Given the description of an element on the screen output the (x, y) to click on. 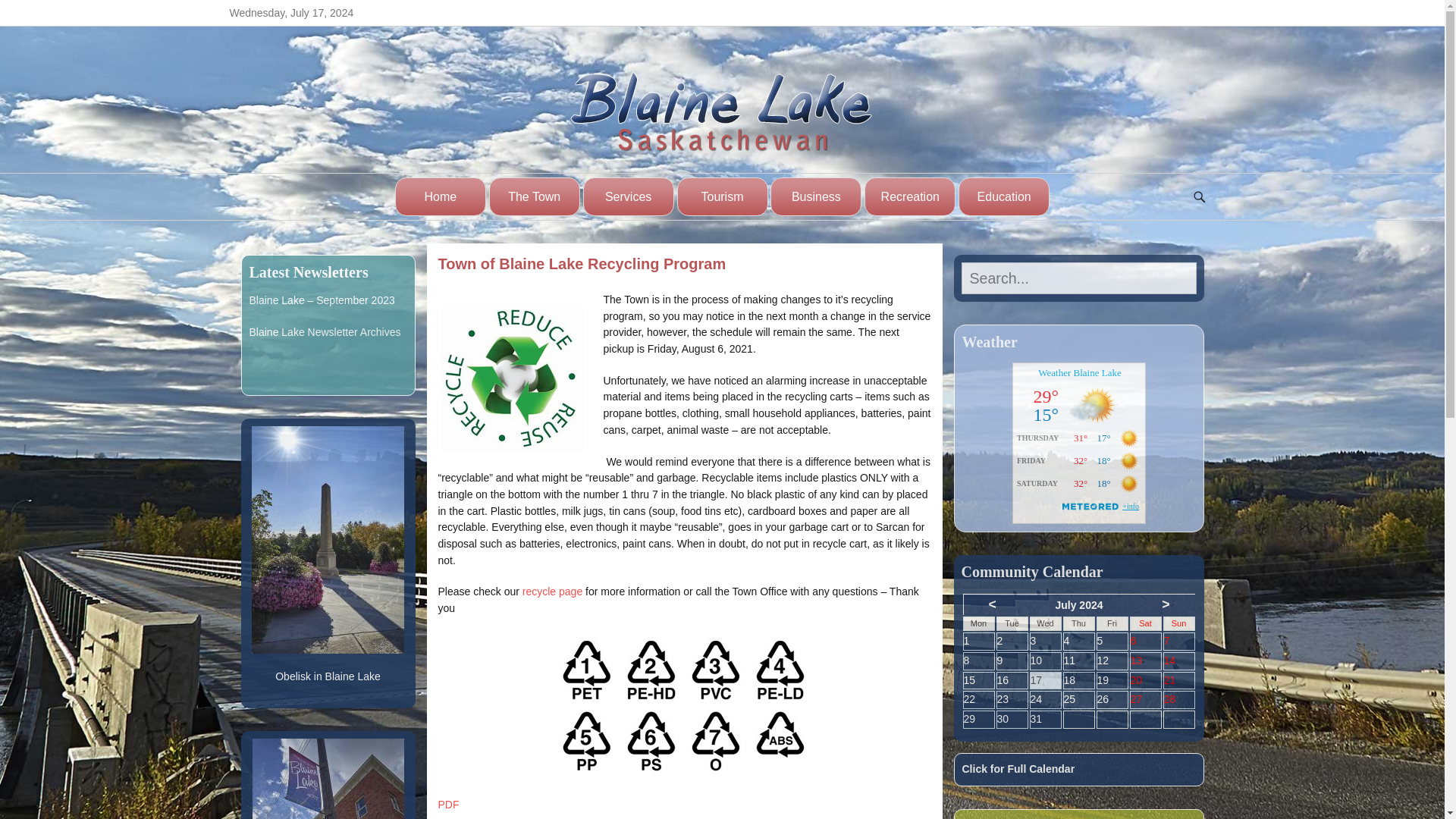
Previous month (991, 604)
Search for: (1078, 278)
Next month (1165, 604)
